Given the description of an element on the screen output the (x, y) to click on. 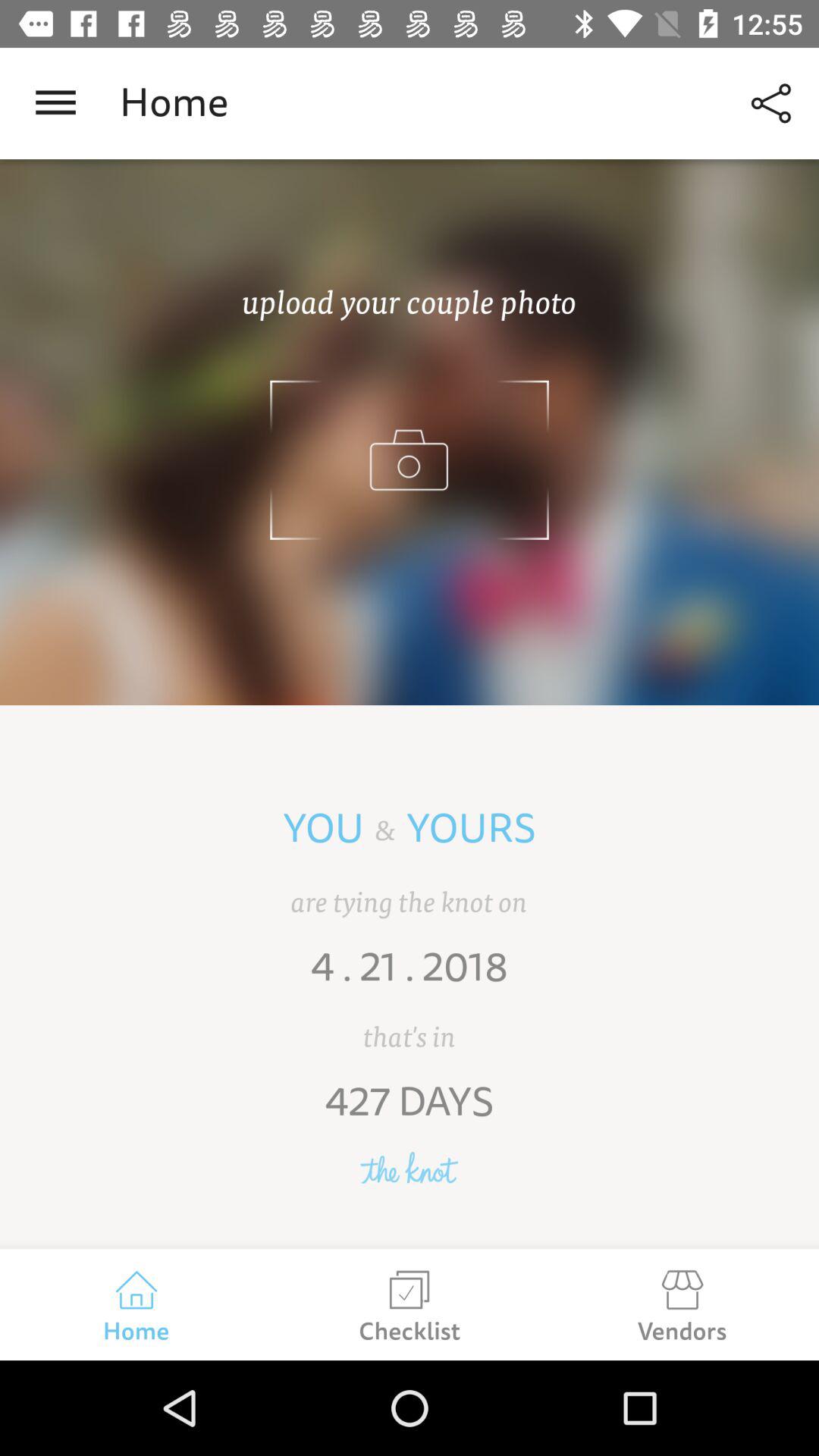
jump to 4 . 21 . 2018 item (409, 977)
